Given the description of an element on the screen output the (x, y) to click on. 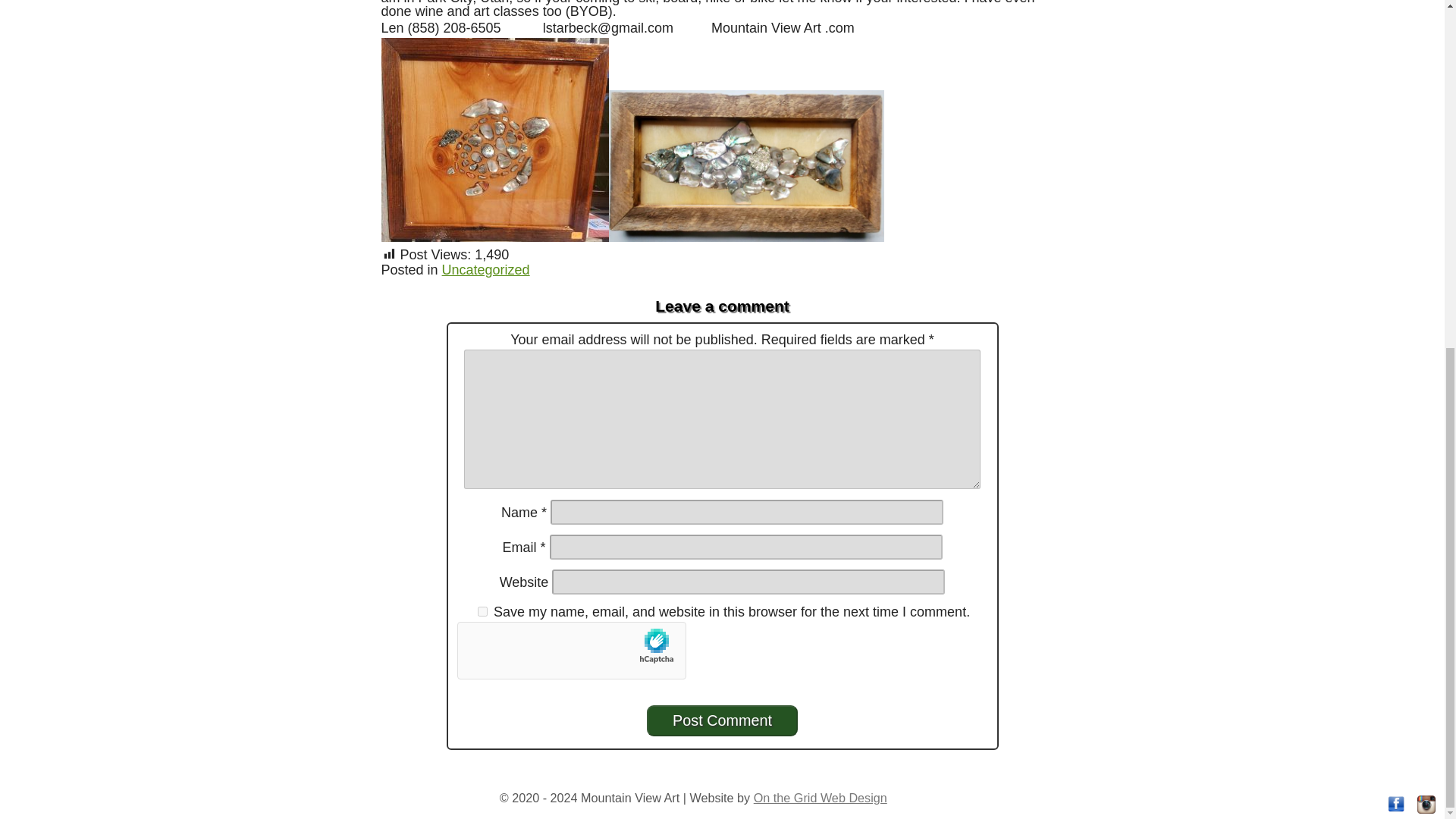
Post Comment (721, 720)
Widget containing checkbox for hCaptcha security challenge (571, 650)
Uncategorized (485, 269)
Post Comment (721, 720)
yes (482, 611)
On the Grid Web Design (820, 797)
